Given the description of an element on the screen output the (x, y) to click on. 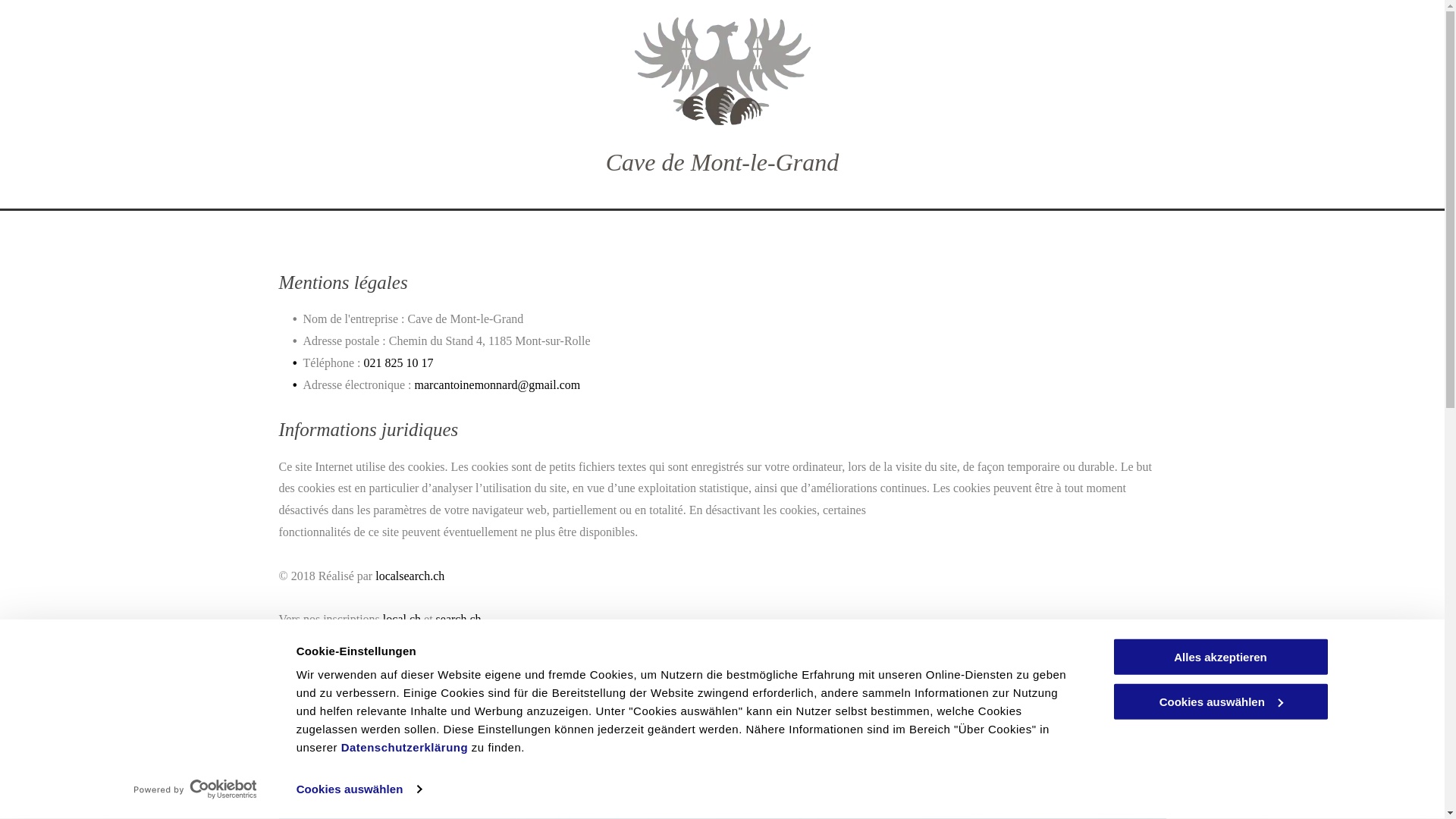
search.ch Element type: text (458, 618)
local.ch Element type: text (401, 618)
marcantoinemonnard@gmail.com Element type: text (497, 384)
localsearch.ch Element type: text (409, 575)
021 825 10 17 Element type: text (398, 362)
Alles akzeptieren Element type: text (1219, 656)
